Given the description of an element on the screen output the (x, y) to click on. 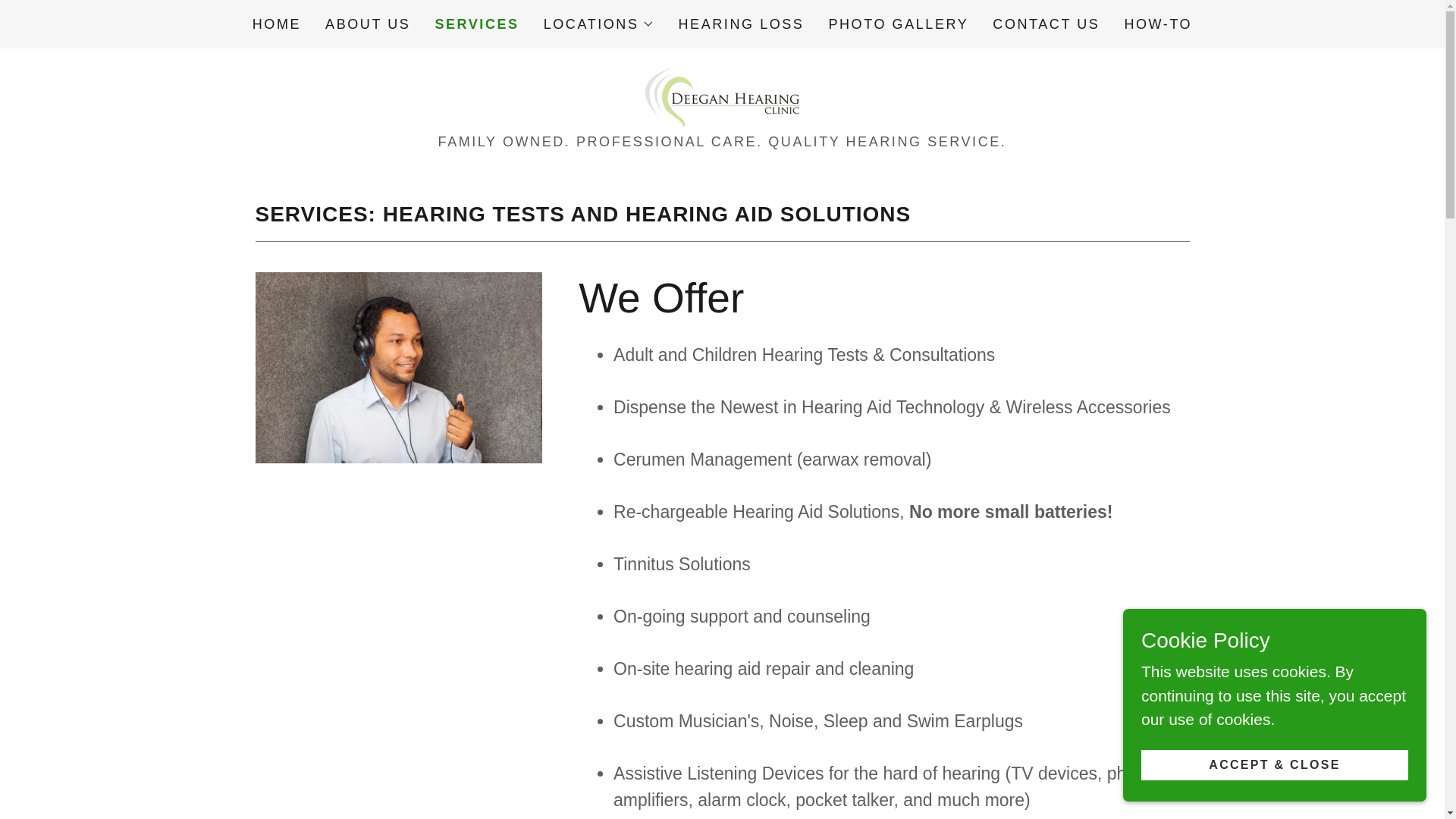
ABOUT US (367, 23)
SERVICES (475, 24)
HOW-TO (1157, 23)
HOME (276, 23)
CONTACT US (1045, 23)
PHOTO GALLERY (898, 23)
HEARING LOSS (741, 23)
LOCATIONS (598, 24)
